Given the description of an element on the screen output the (x, y) to click on. 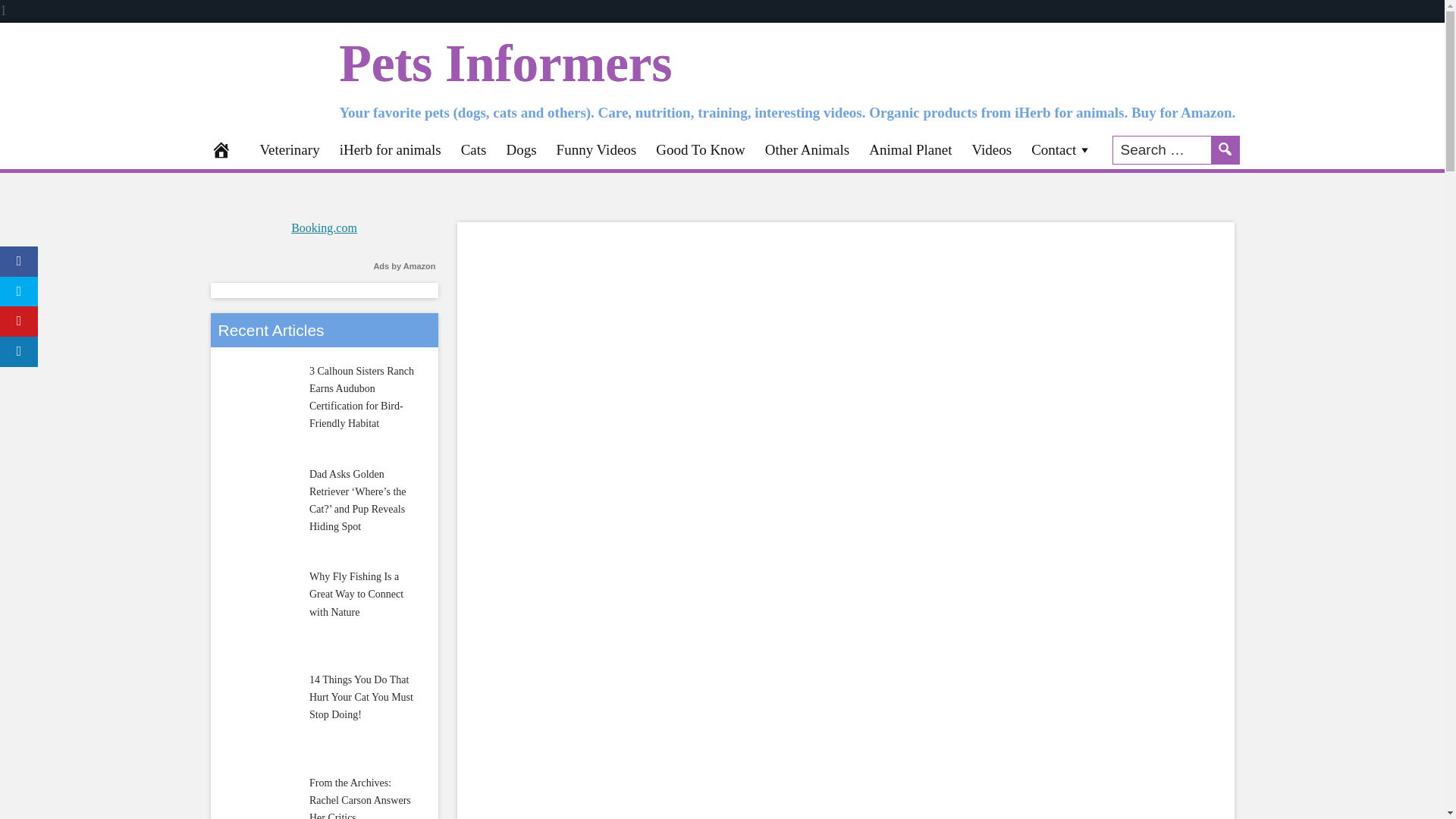
Contact (1062, 149)
Animal Planet (909, 149)
iHerb for animals (390, 149)
Pets Informers (505, 63)
Cats (473, 149)
Dogs (521, 149)
Good To Know (700, 149)
Other Animals (807, 149)
Veterinary (290, 149)
Videos (991, 149)
Funny Videos (596, 149)
